Given the description of an element on the screen output the (x, y) to click on. 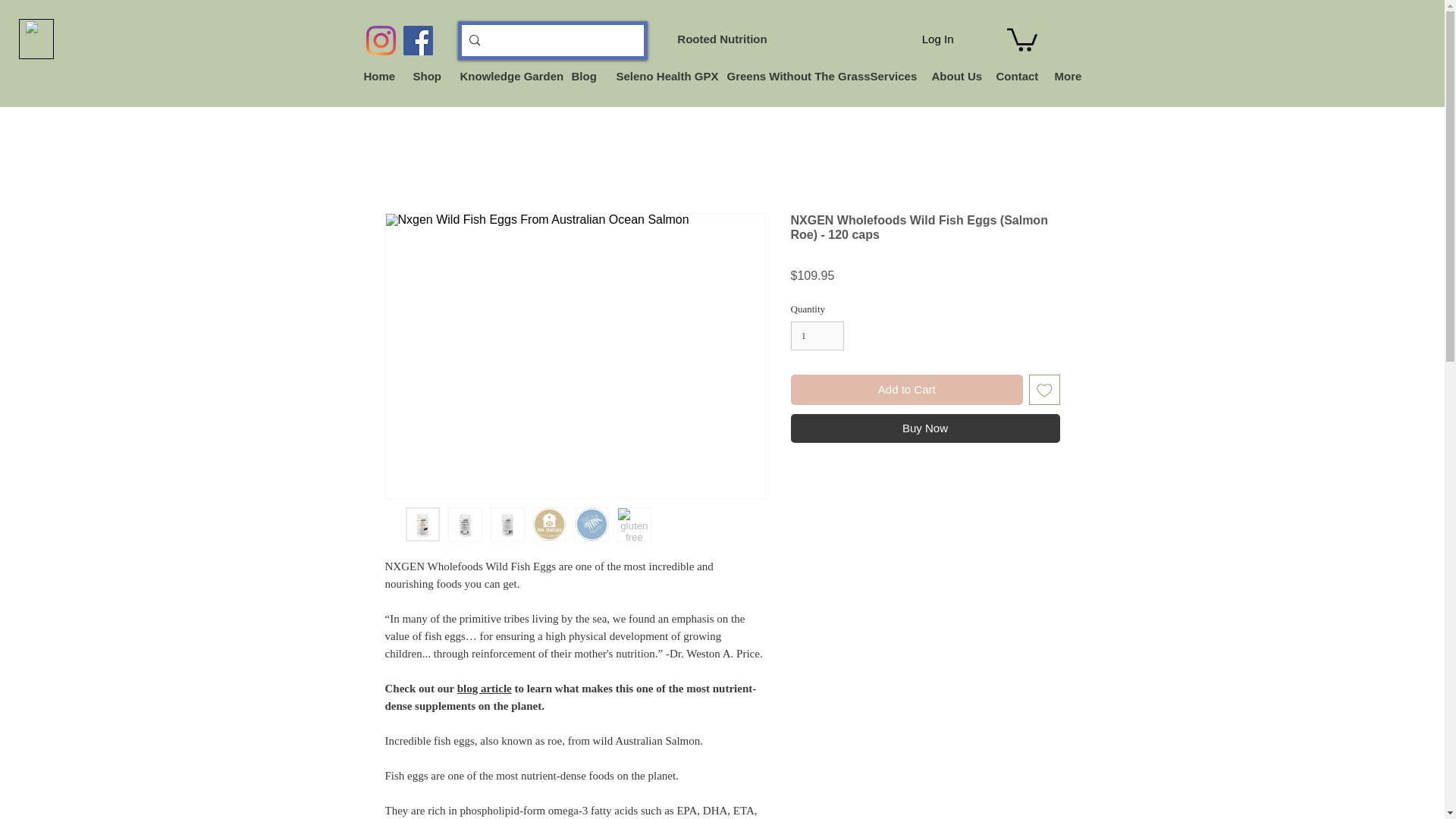
Blog (581, 76)
Greens Without The Grass (787, 76)
Rooted Nutrition (722, 38)
Seleno Health GPX (660, 76)
Contact (1013, 76)
Log In (937, 38)
About Us (952, 76)
1 (817, 335)
Knowledge Garden (504, 76)
Home (376, 76)
